Given the description of an element on the screen output the (x, y) to click on. 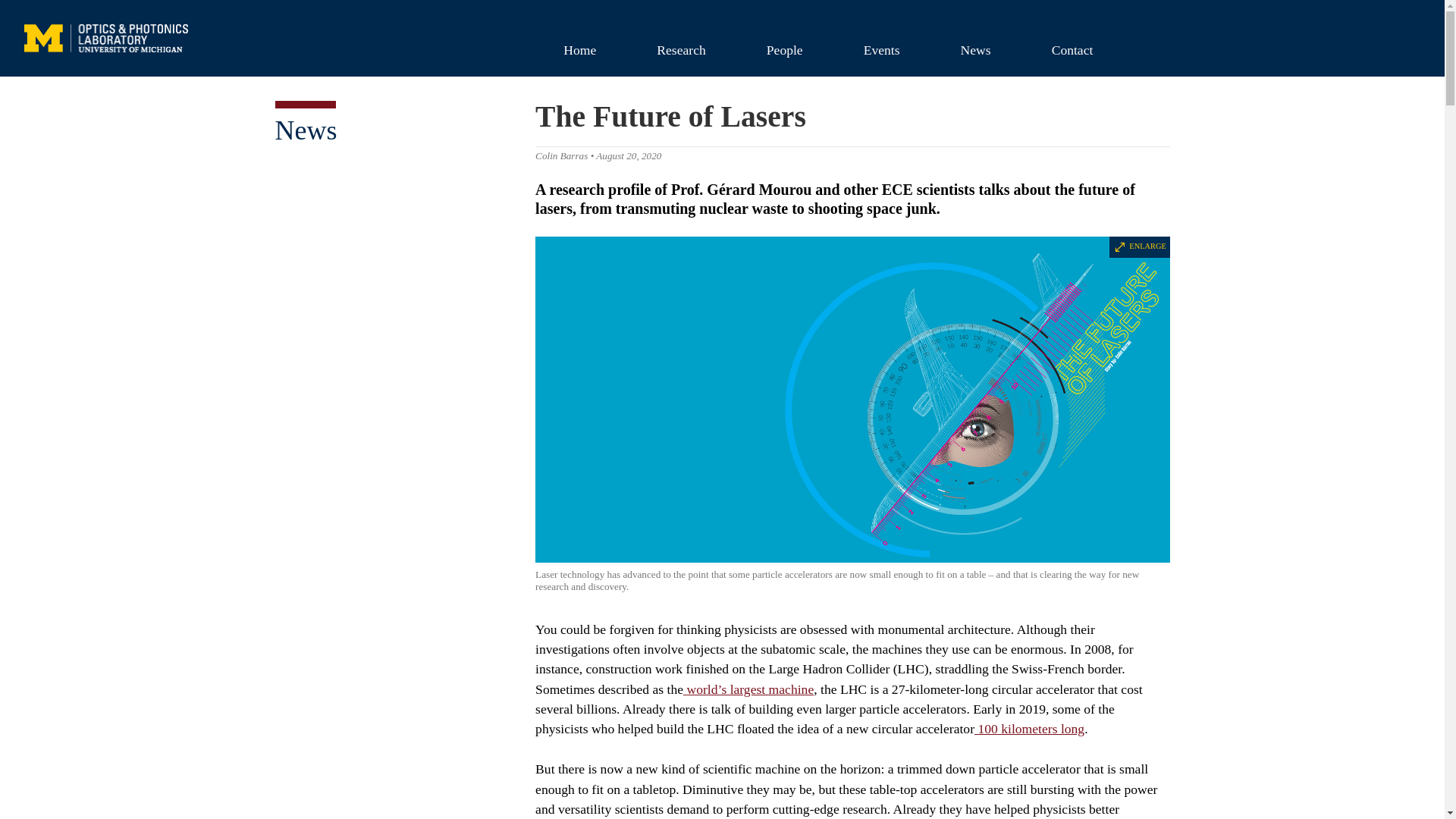
100 kilometers long (1029, 728)
People (784, 49)
Contact (1072, 49)
Home (579, 49)
Events (881, 49)
News (976, 49)
Research (681, 49)
News (305, 130)
